Given the description of an element on the screen output the (x, y) to click on. 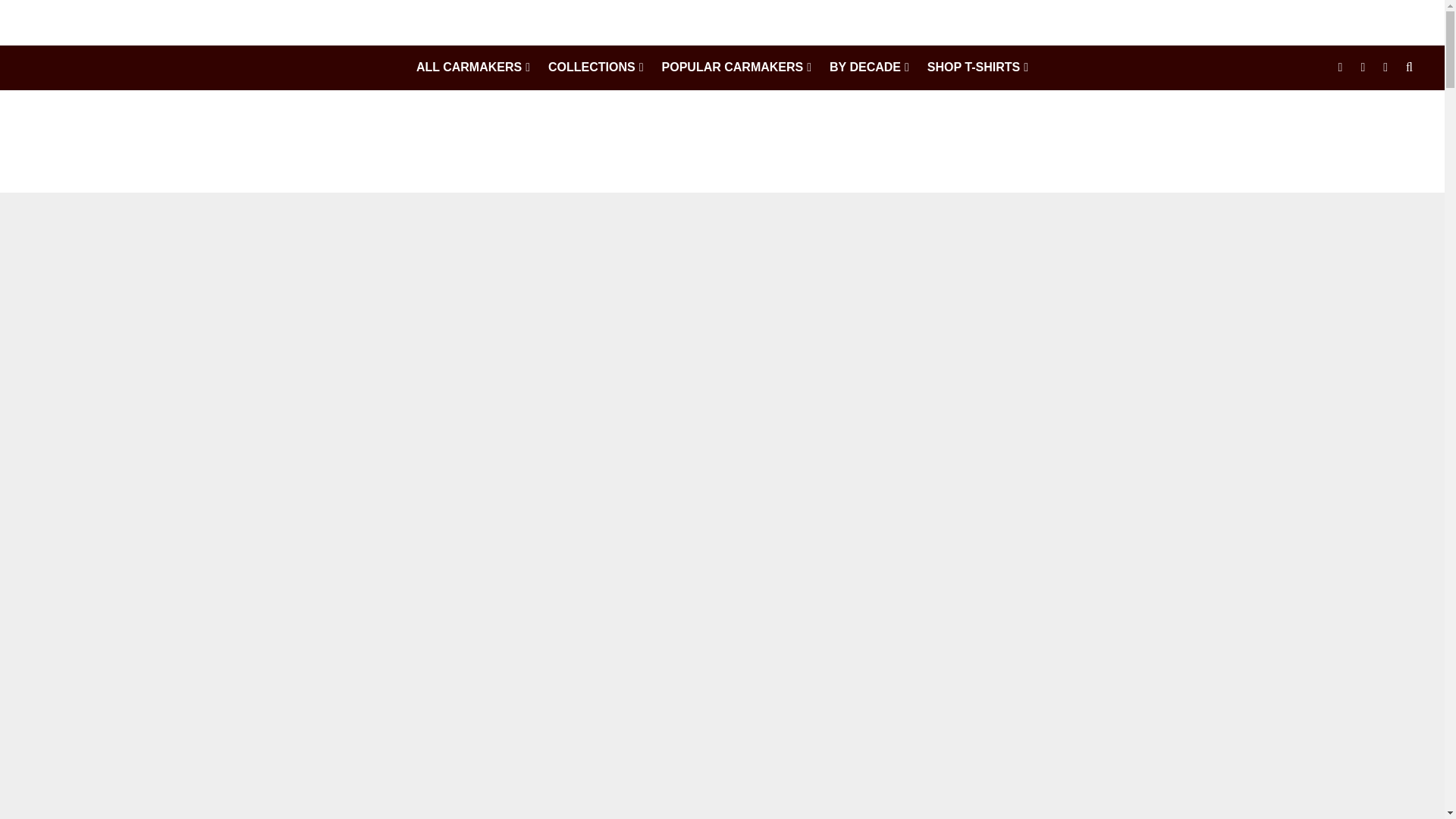
ALL CARMAKERS (472, 67)
